Given the description of an element on the screen output the (x, y) to click on. 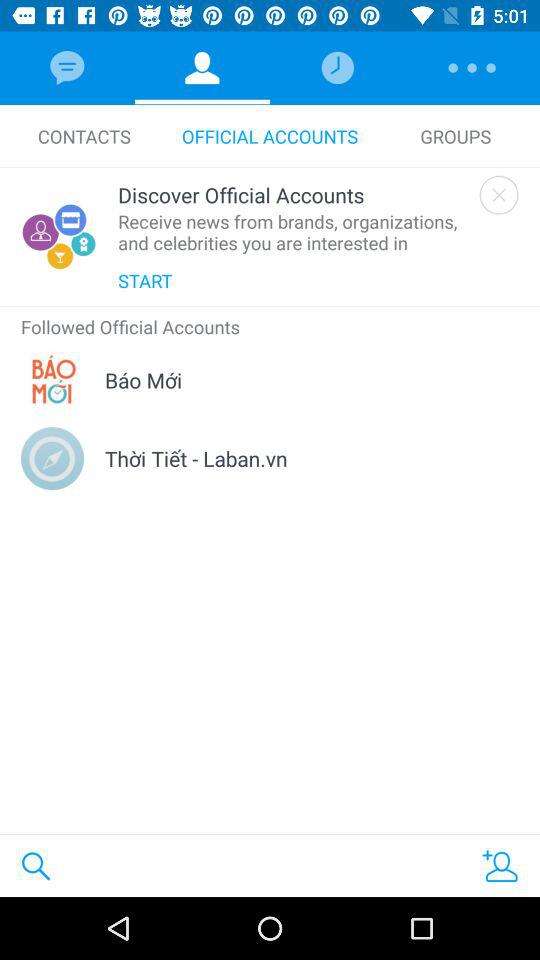
press the icon above the followed official accounts item (270, 306)
